Given the description of an element on the screen output the (x, y) to click on. 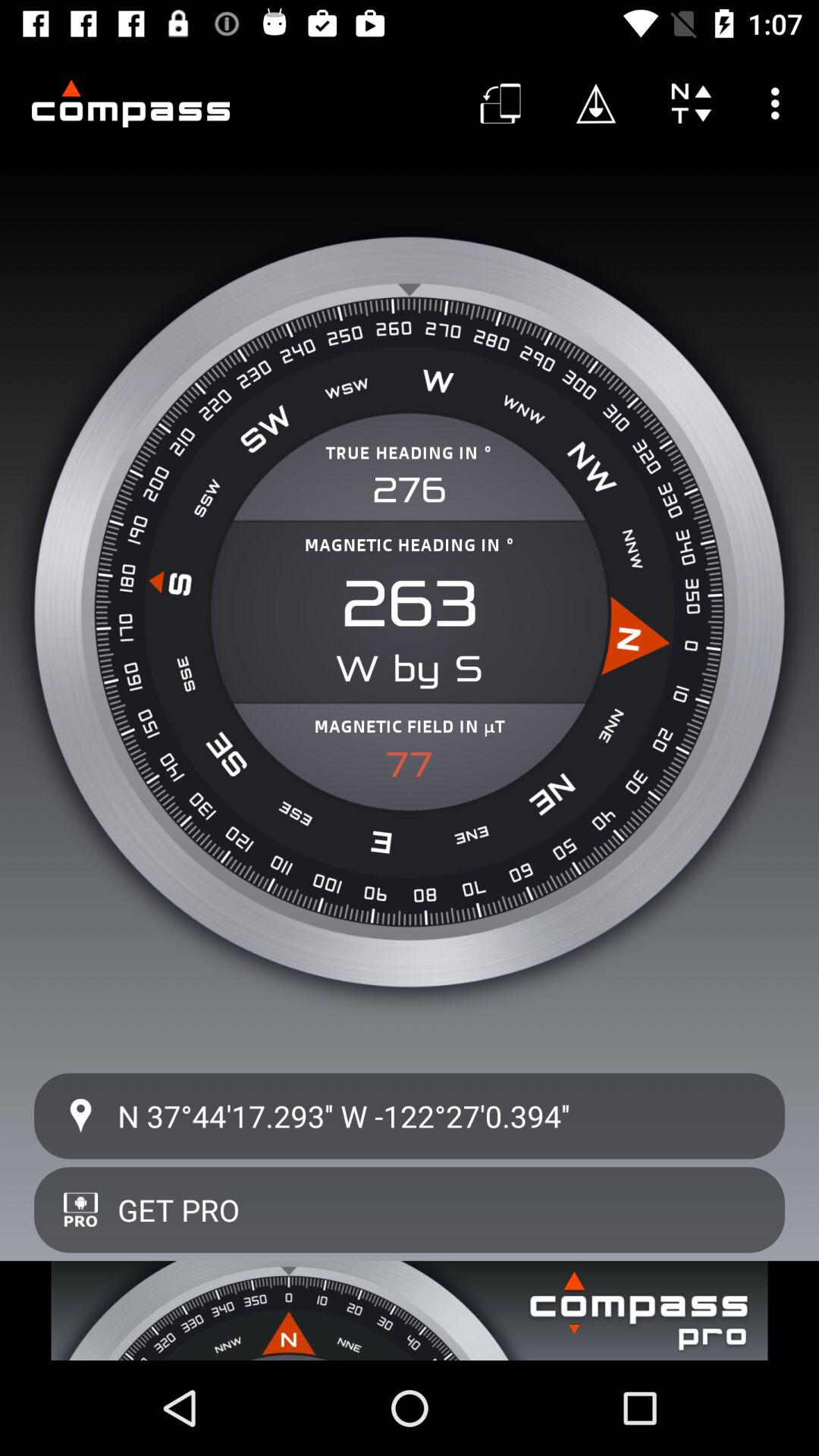
open 78 (409, 764)
